Given the description of an element on the screen output the (x, y) to click on. 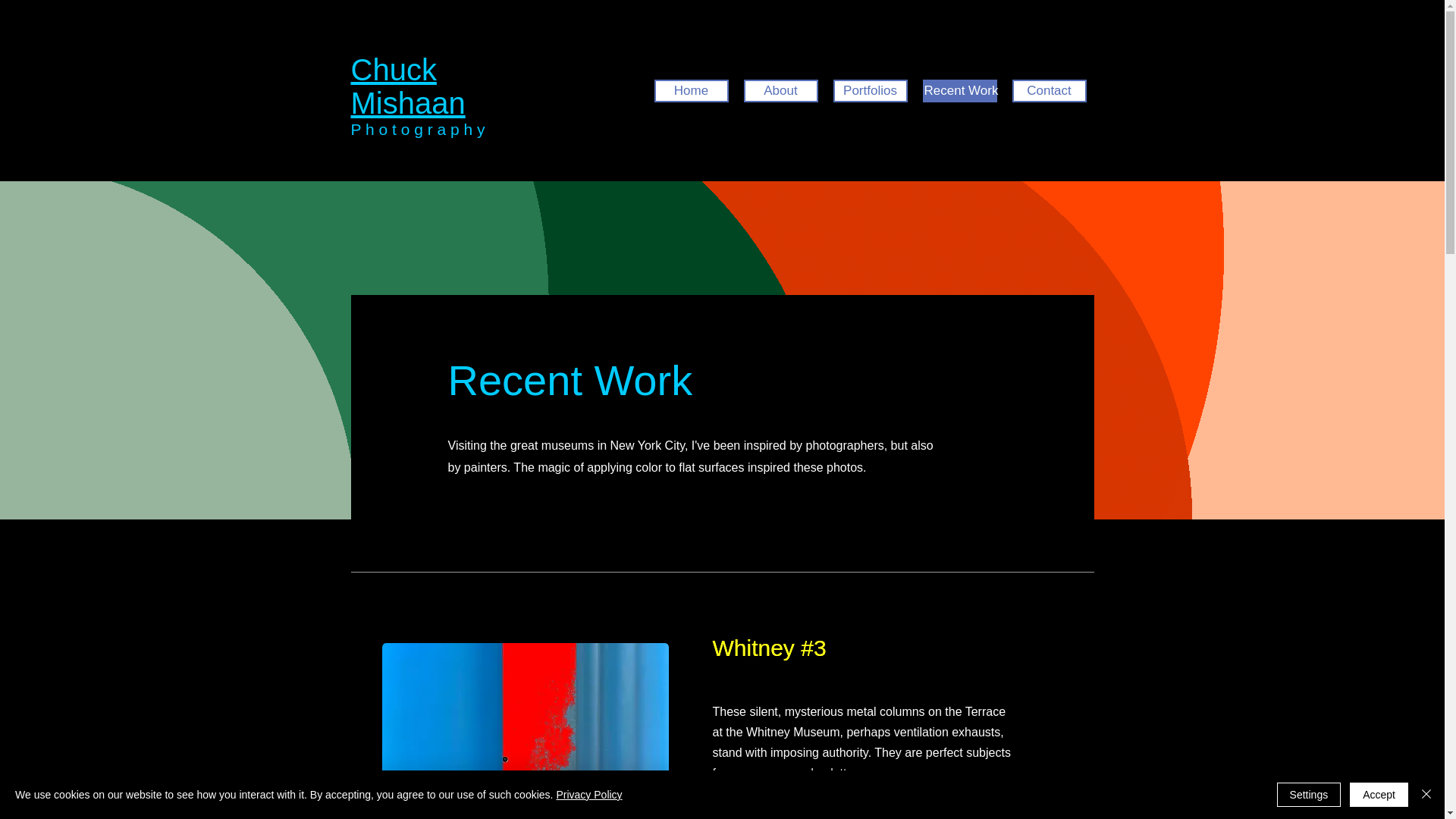
Settings (1308, 794)
Contact (1048, 90)
Chuck Mishaan (407, 86)
Home (690, 90)
About (779, 90)
Recent Work (958, 90)
Accept (1378, 794)
Portfolios (869, 90)
Privacy Policy (588, 794)
